Given the description of an element on the screen output the (x, y) to click on. 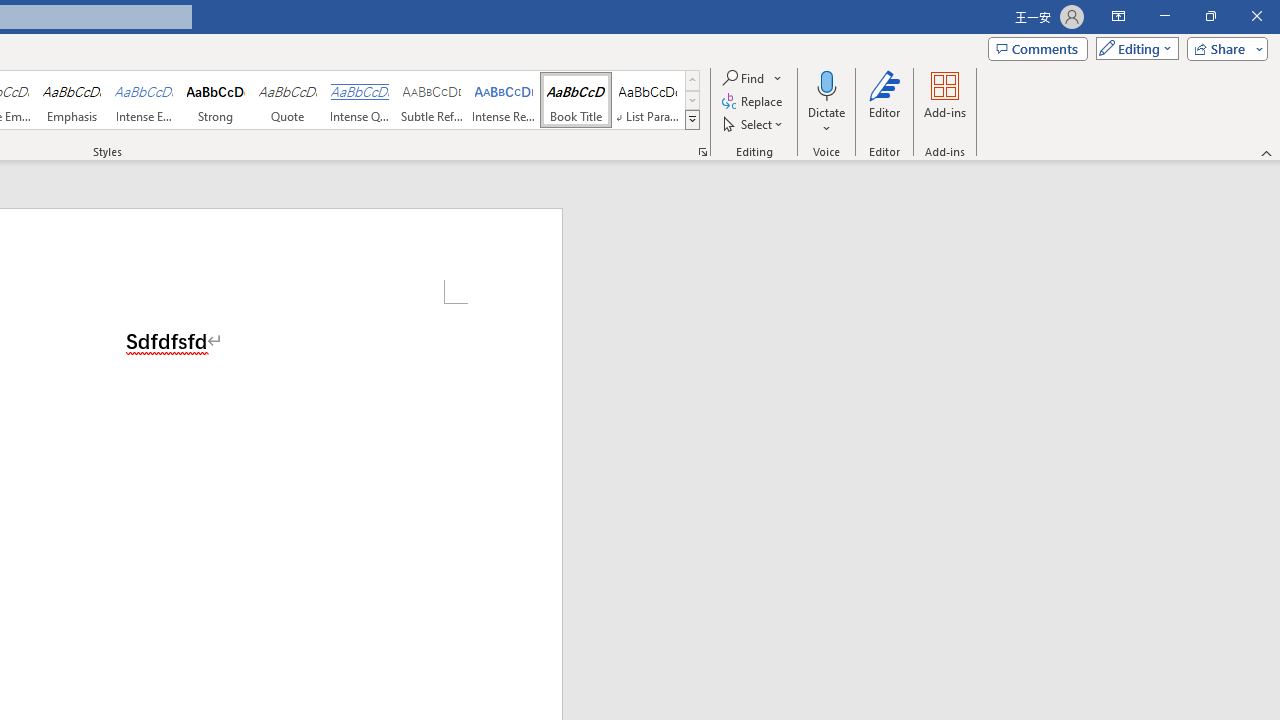
Intense Emphasis (143, 100)
Quote (287, 100)
Close (1256, 16)
Ribbon Display Options (1118, 16)
Styles (692, 120)
Book Title (575, 100)
Editor (885, 102)
Class: NetUIImage (692, 119)
Row Down (692, 100)
More Options (826, 121)
Find (753, 78)
Comments (1038, 48)
Replace... (753, 101)
